Given the description of an element on the screen output the (x, y) to click on. 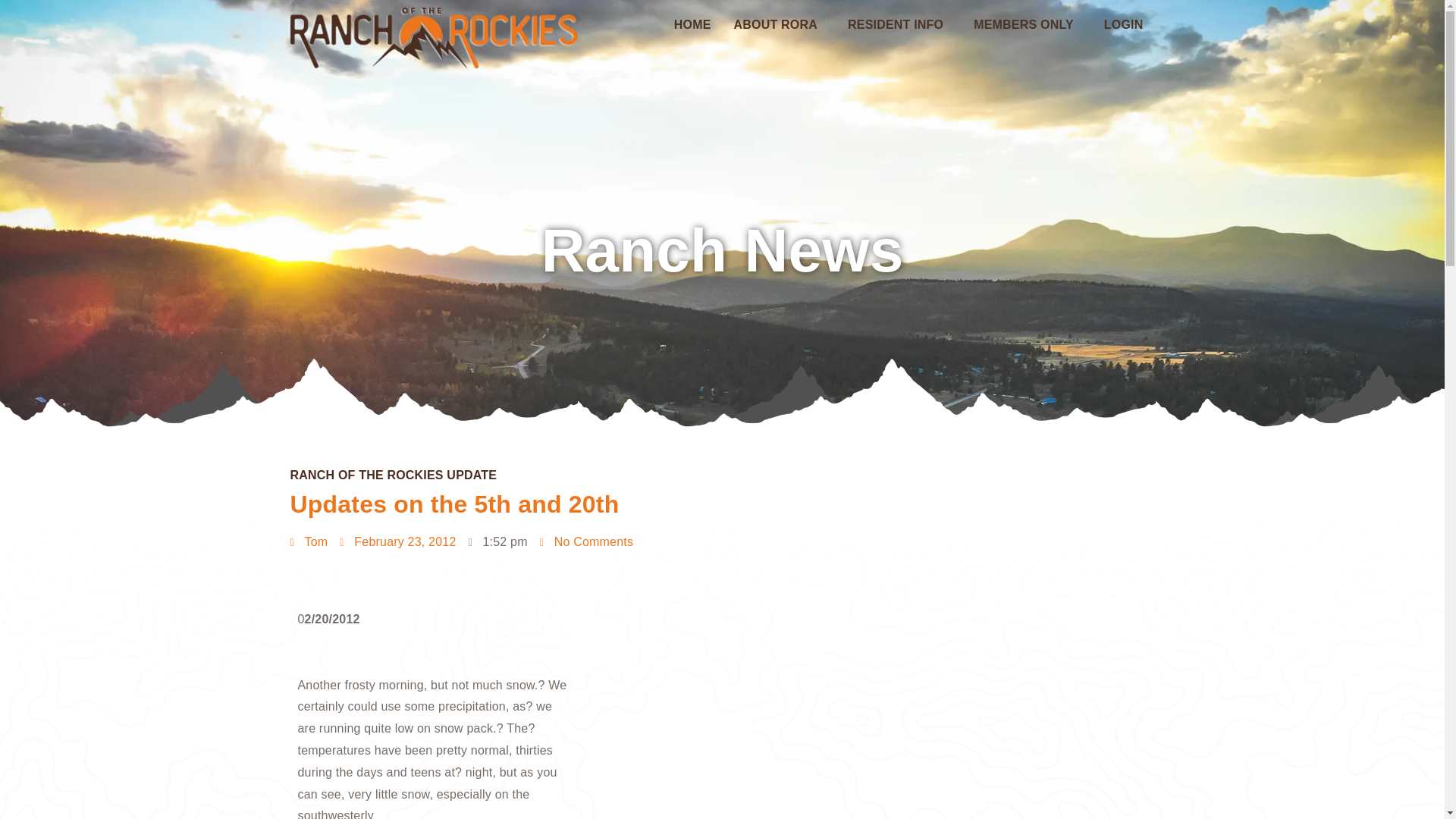
RESIDENT INFO (898, 24)
ABOUT RORA (778, 24)
MEMBERS ONLY (1027, 24)
Early Morning Buffalo Peaks (690, 686)
No Comments (586, 542)
HOME (692, 24)
February 23, 2012 (397, 542)
LOGIN (1123, 24)
Tom (308, 542)
